Given the description of an element on the screen output the (x, y) to click on. 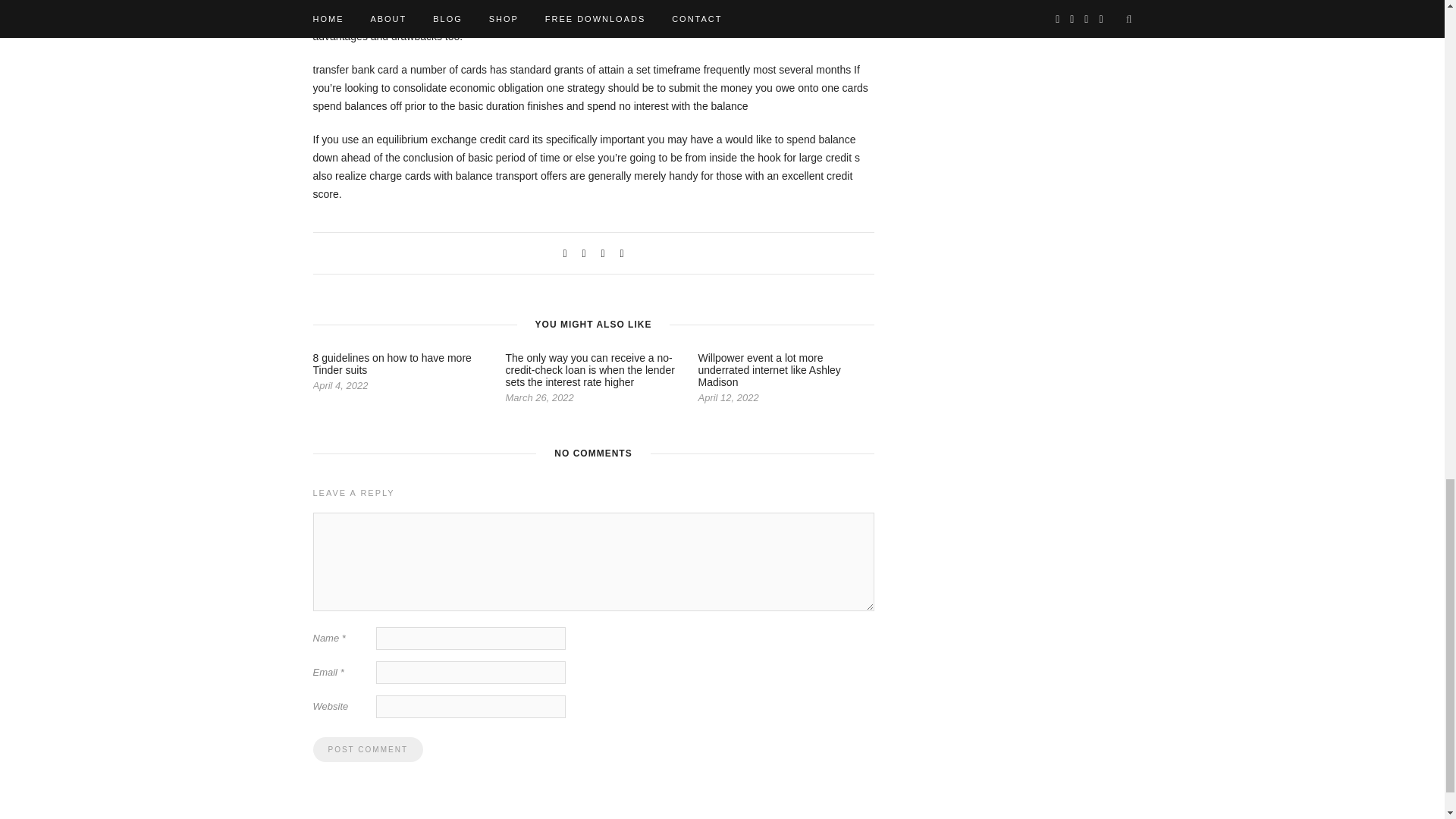
Post Comment (367, 749)
8 guidelines on how to have more Tinder suits (391, 363)
Post Comment (367, 749)
